Given the description of an element on the screen output the (x, y) to click on. 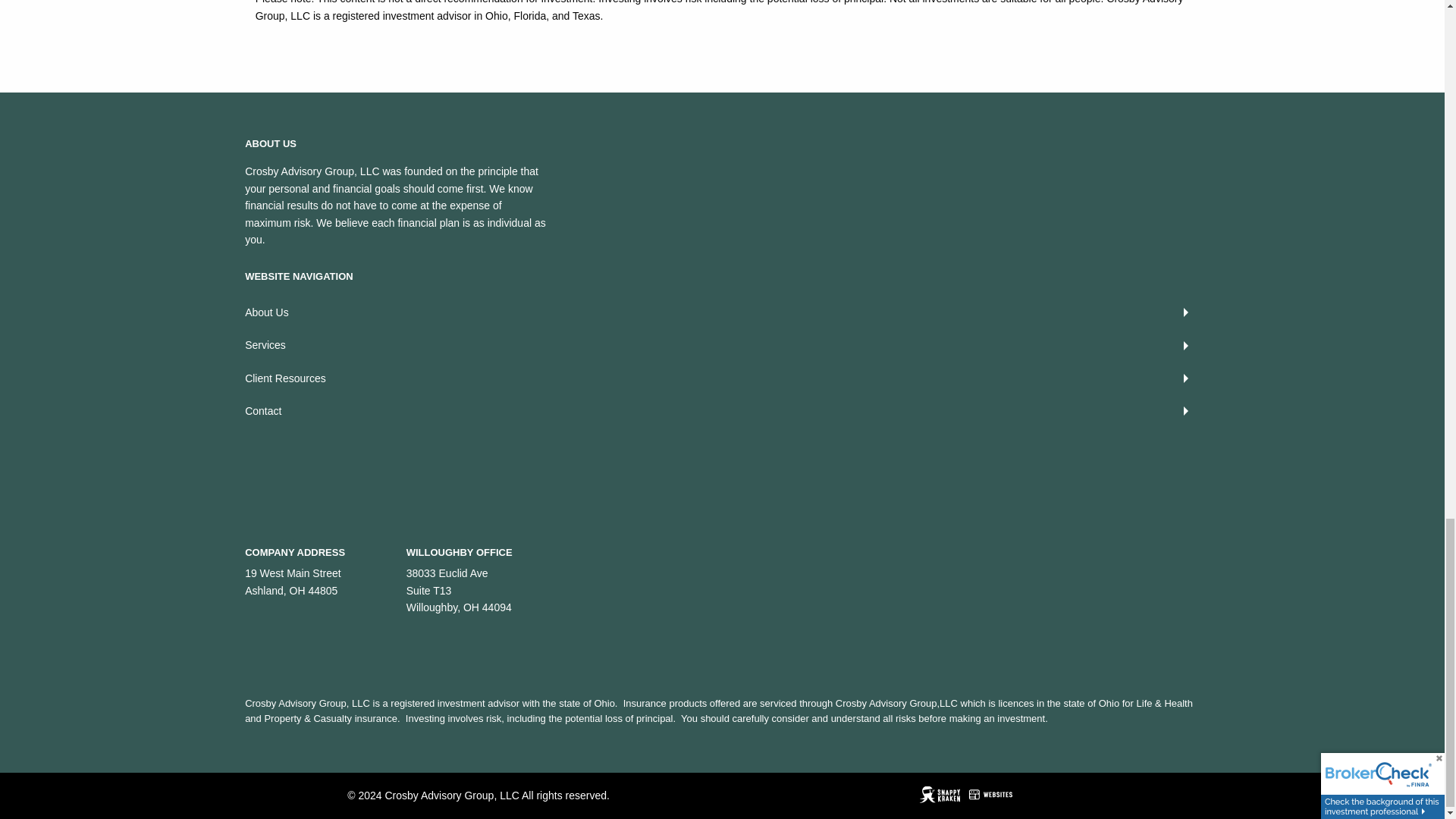
About Us (721, 311)
About Us (721, 311)
Services (721, 345)
